Given the description of an element on the screen output the (x, y) to click on. 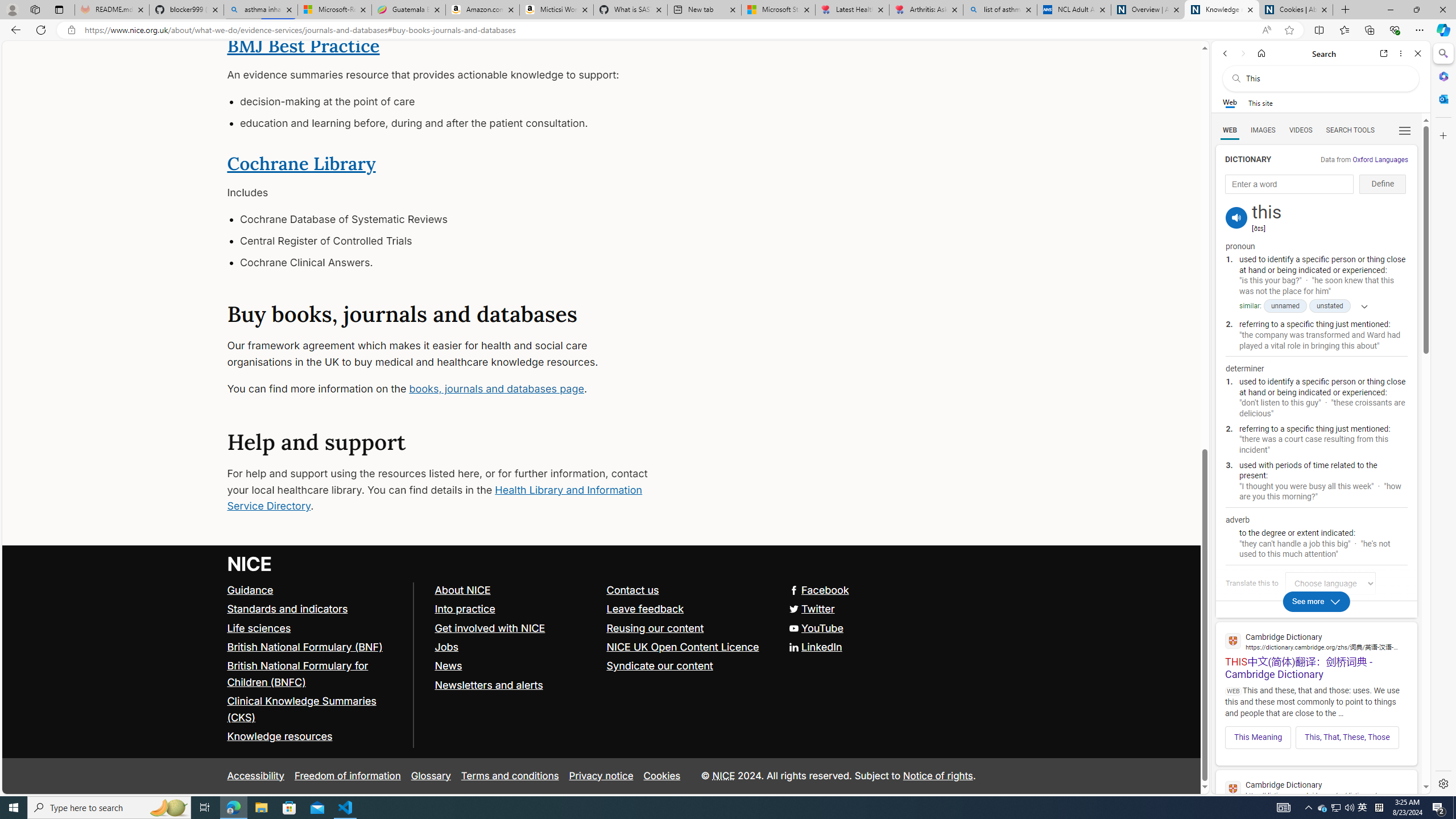
Search (1442, 53)
IMAGES (1262, 130)
Show more (1360, 305)
This, That, These, Those (1347, 737)
Syndicate our content (686, 665)
About NICE (461, 589)
See more (1316, 601)
British National Formulary for Children (BNFC) (315, 674)
This Meaning (1258, 737)
Arthritis: Ask Health Professionals (925, 9)
pronounce (1236, 217)
Twitter (601, 609)
